Given the description of an element on the screen output the (x, y) to click on. 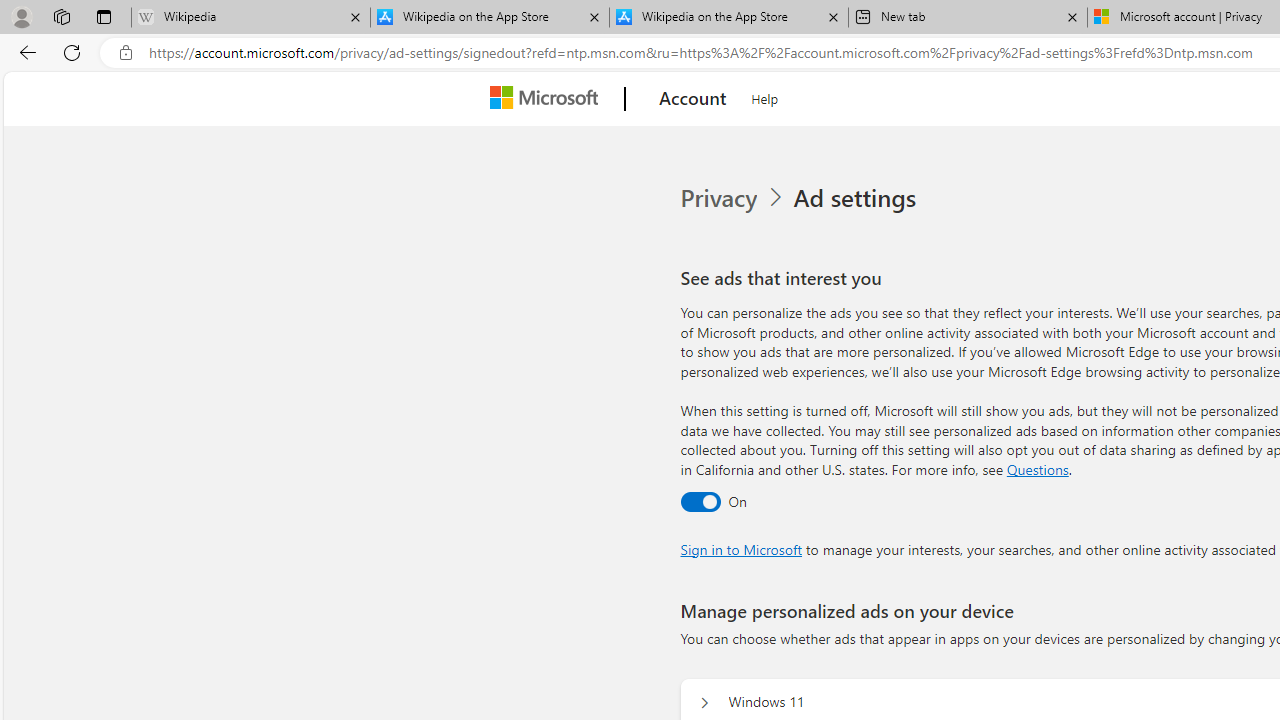
Go to Questions section (1037, 468)
Ad settings (858, 197)
